Given the description of an element on the screen output the (x, y) to click on. 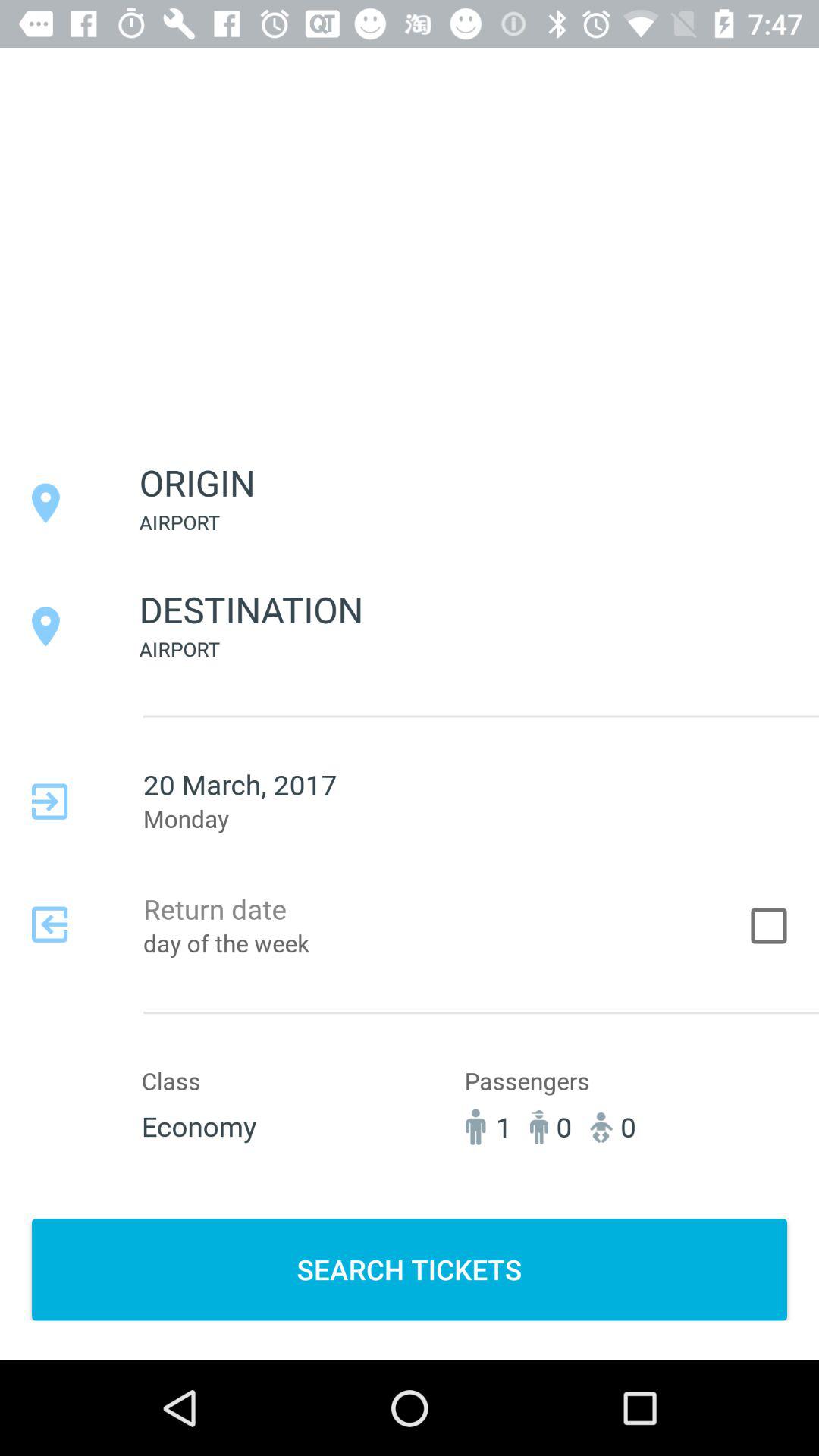
swipe to search tickets item (409, 1269)
